Given the description of an element on the screen output the (x, y) to click on. 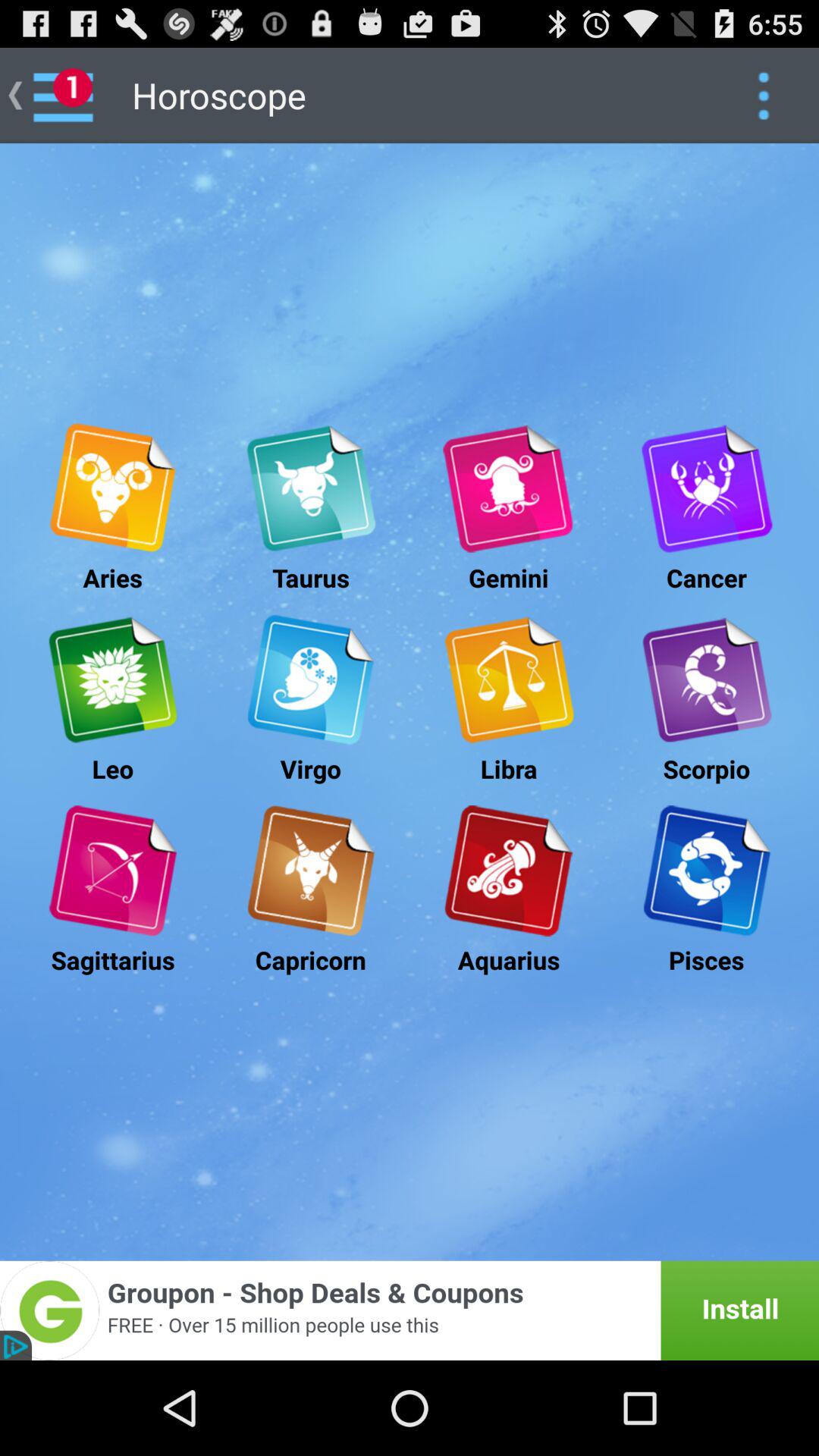
know about taurus horoscope (310, 488)
